Given the description of an element on the screen output the (x, y) to click on. 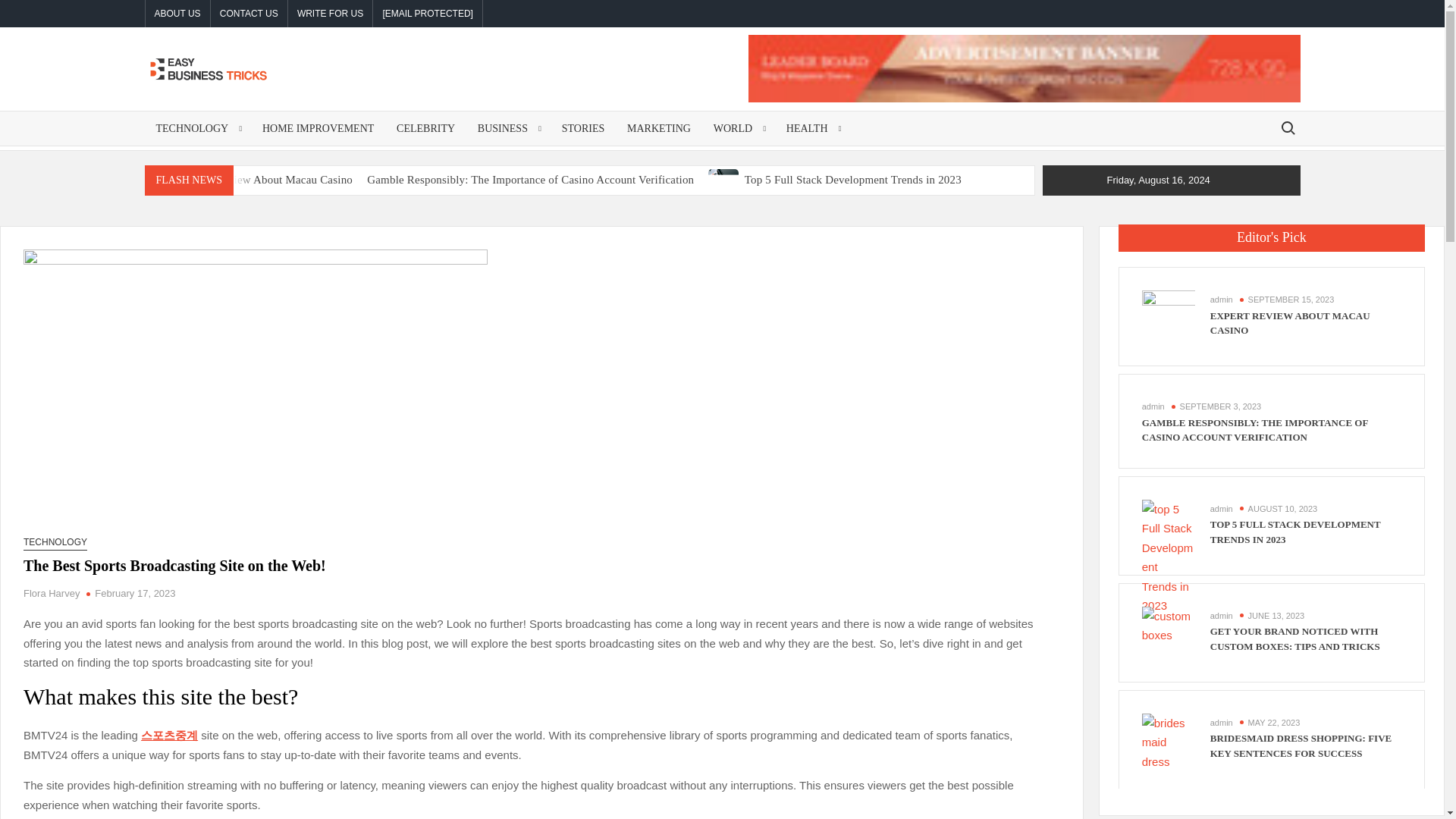
WRITE FOR US (330, 13)
EASY BUSINESS TRICKS (356, 125)
HOME IMPROVEMENT (317, 128)
Top 5 Full Stack Development Trends in 2023 (724, 178)
Expert Review About Macau Casino (266, 179)
ABOUT US (177, 13)
Expert Review About Macau Casino (161, 178)
BUSINESS (507, 128)
